Given the description of an element on the screen output the (x, y) to click on. 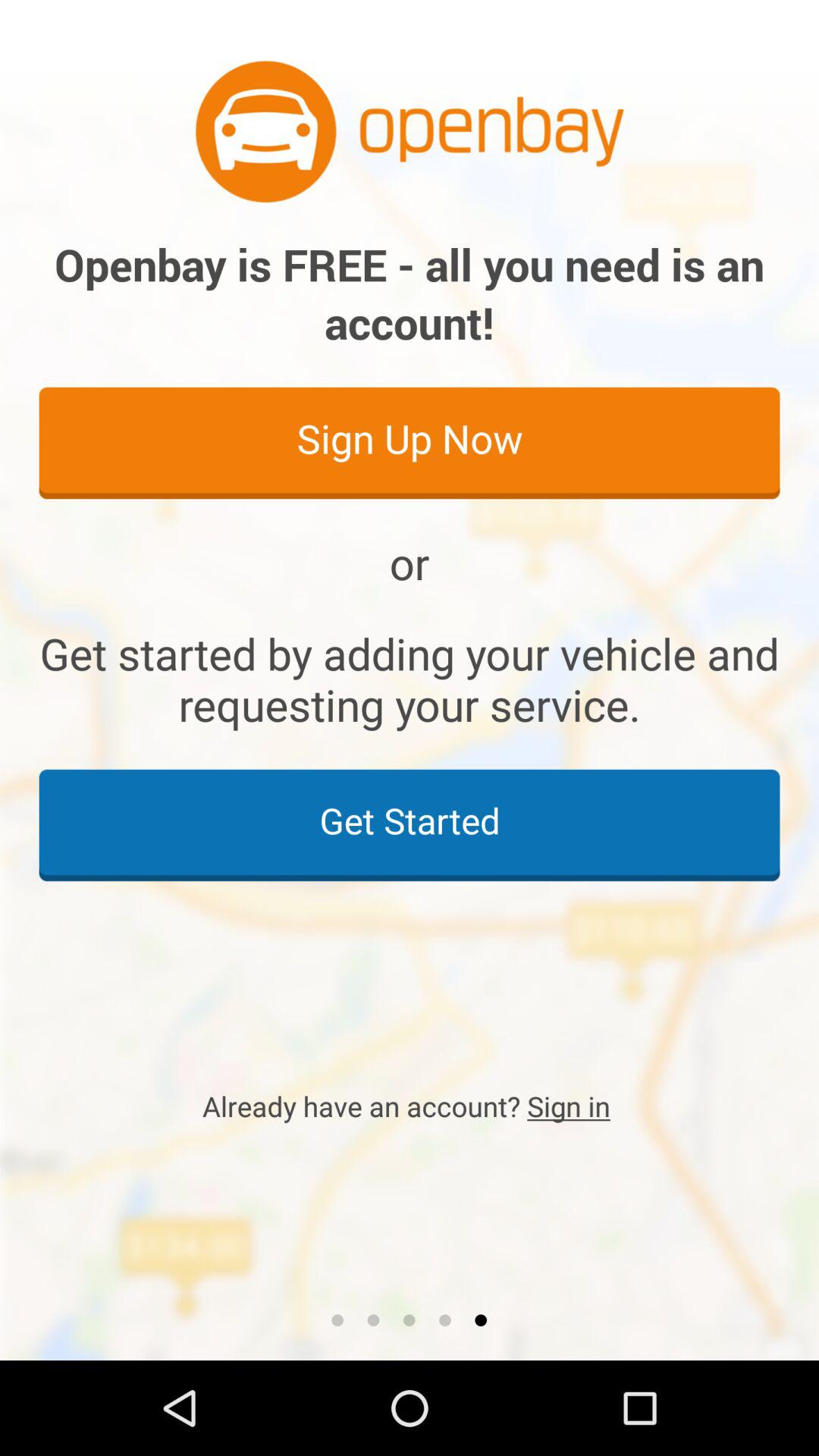
press sign up now icon (409, 442)
